Given the description of an element on the screen output the (x, y) to click on. 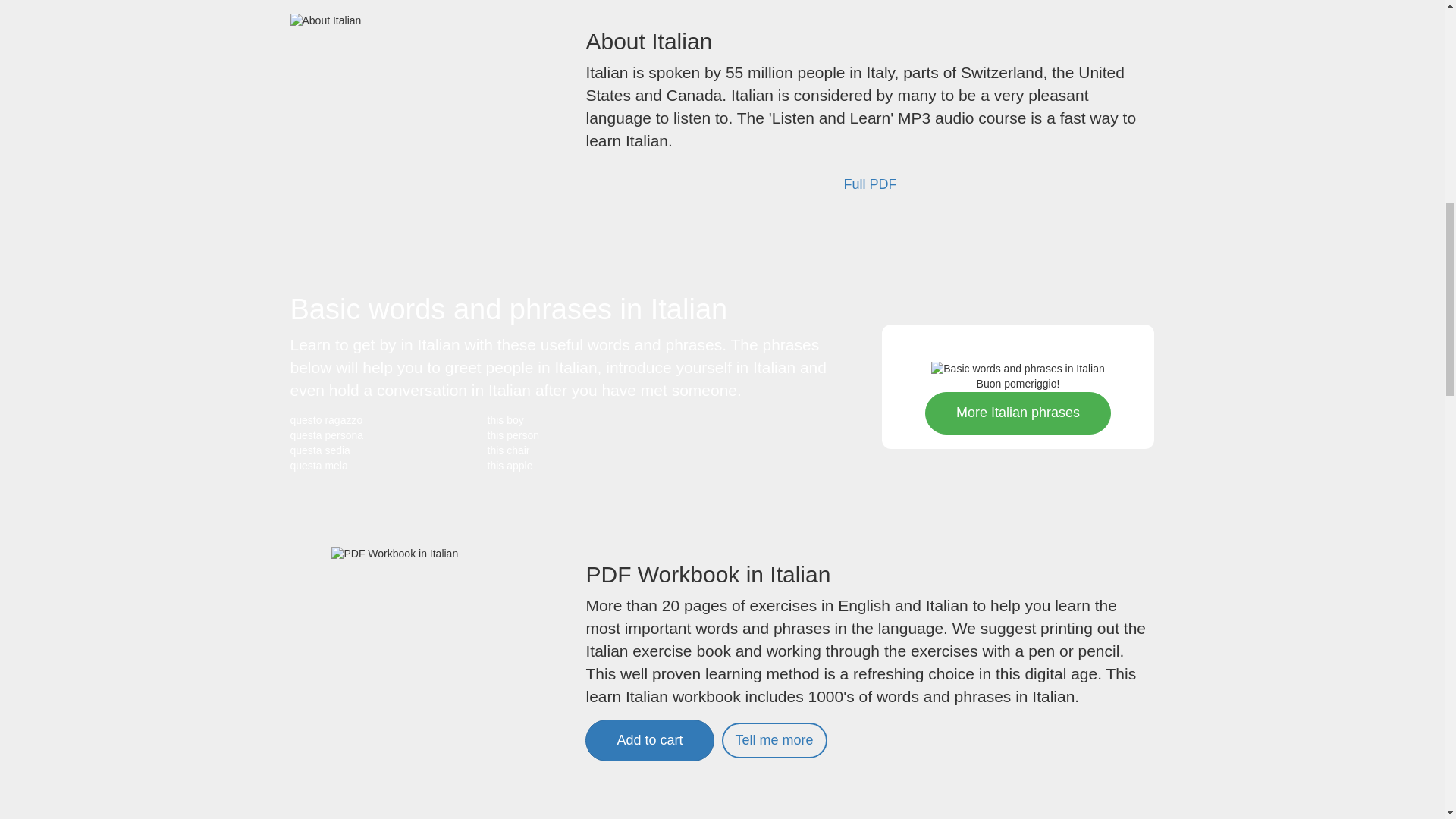
Basic words and phrases in Italian (1017, 368)
Full PDF (869, 184)
Learn Italian book - PDF Workbook in Italian (774, 739)
More Italian phrases (1017, 413)
Tell me more (774, 739)
About Italian (325, 20)
Add to cart (649, 740)
More Italian phrases (1017, 413)
PDF Workbook in Italian (426, 672)
Learn Italian book - PDF Workbook in Italian (649, 740)
Full PDF (869, 184)
